Given the description of an element on the screen output the (x, y) to click on. 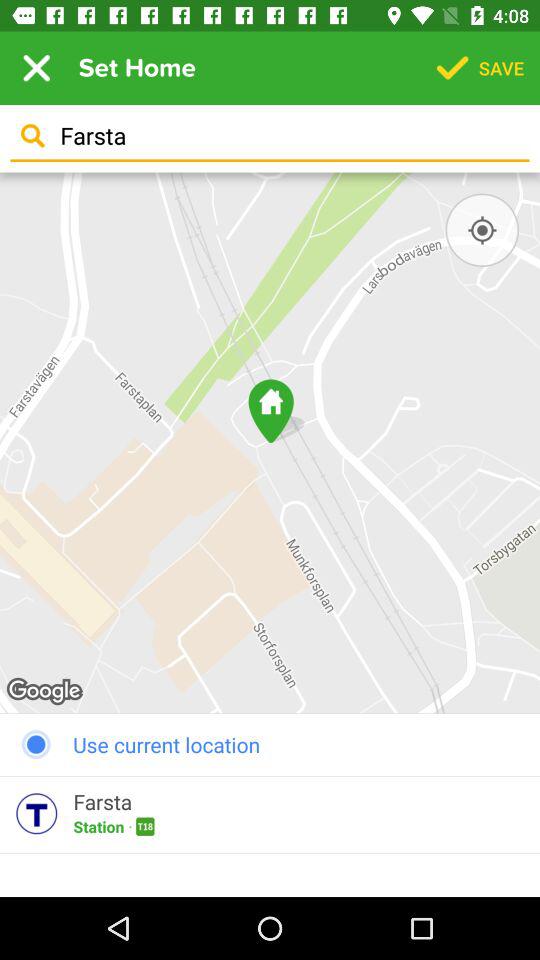
switch current location (482, 230)
